Given the description of an element on the screen output the (x, y) to click on. 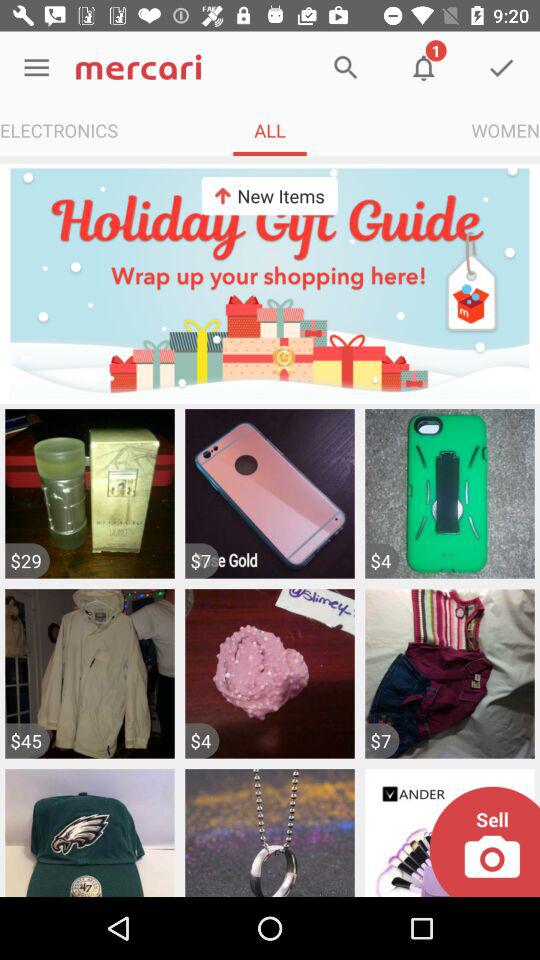
tap app below the electronics icon (270, 283)
